Given the description of an element on the screen output the (x, y) to click on. 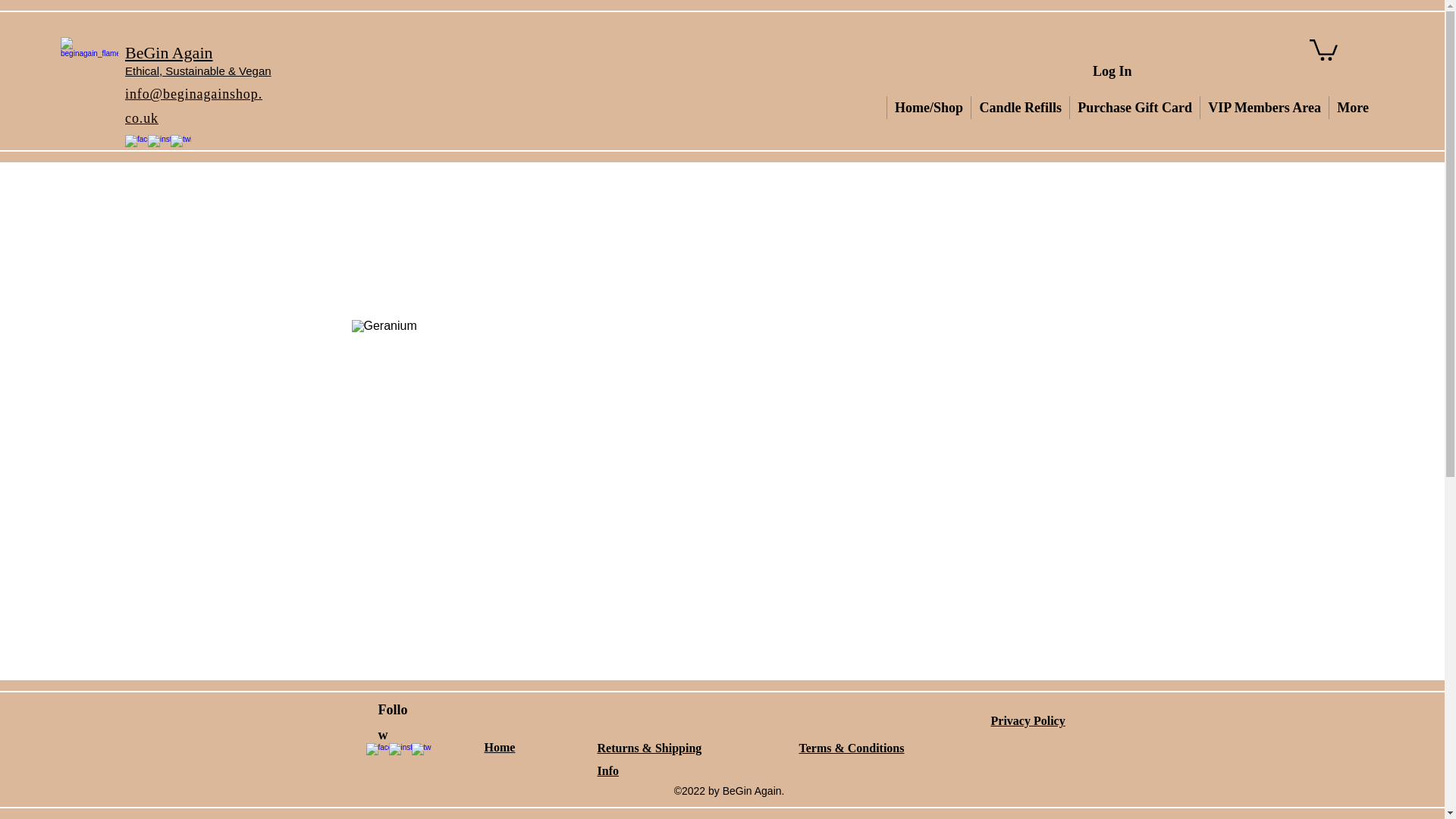
Candle Refills (964, 107)
Log In (1111, 71)
Purchase Gift Card (1049, 107)
BeGin Again (168, 52)
VIP Members Area (1146, 107)
Loyalty (1351, 107)
